Given the description of an element on the screen output the (x, y) to click on. 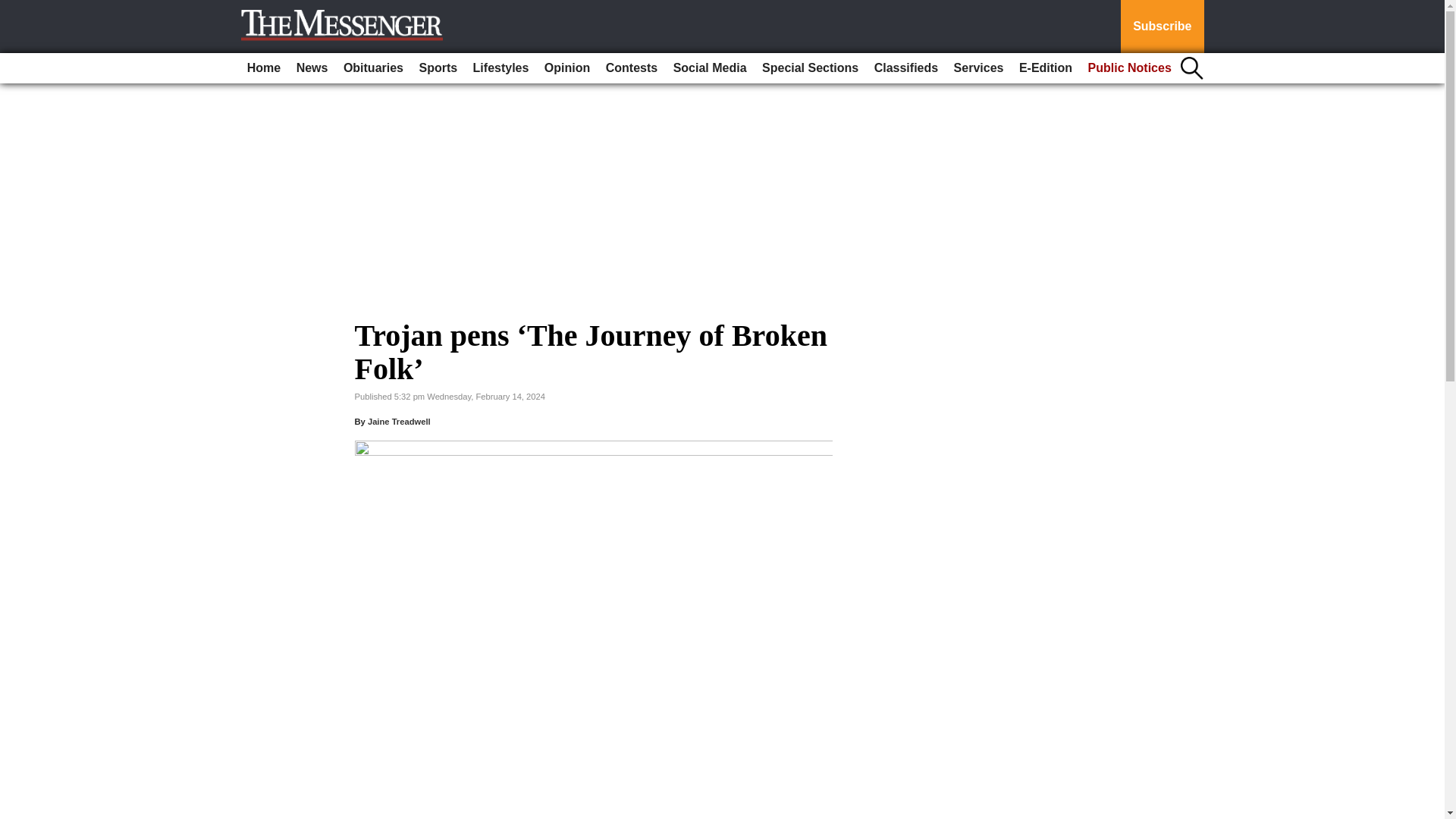
News (311, 68)
Classifieds (905, 68)
E-Edition (1045, 68)
Contests (631, 68)
Home (263, 68)
Subscribe (1162, 26)
Services (978, 68)
Special Sections (809, 68)
Opinion (566, 68)
Social Media (709, 68)
